Given the description of an element on the screen output the (x, y) to click on. 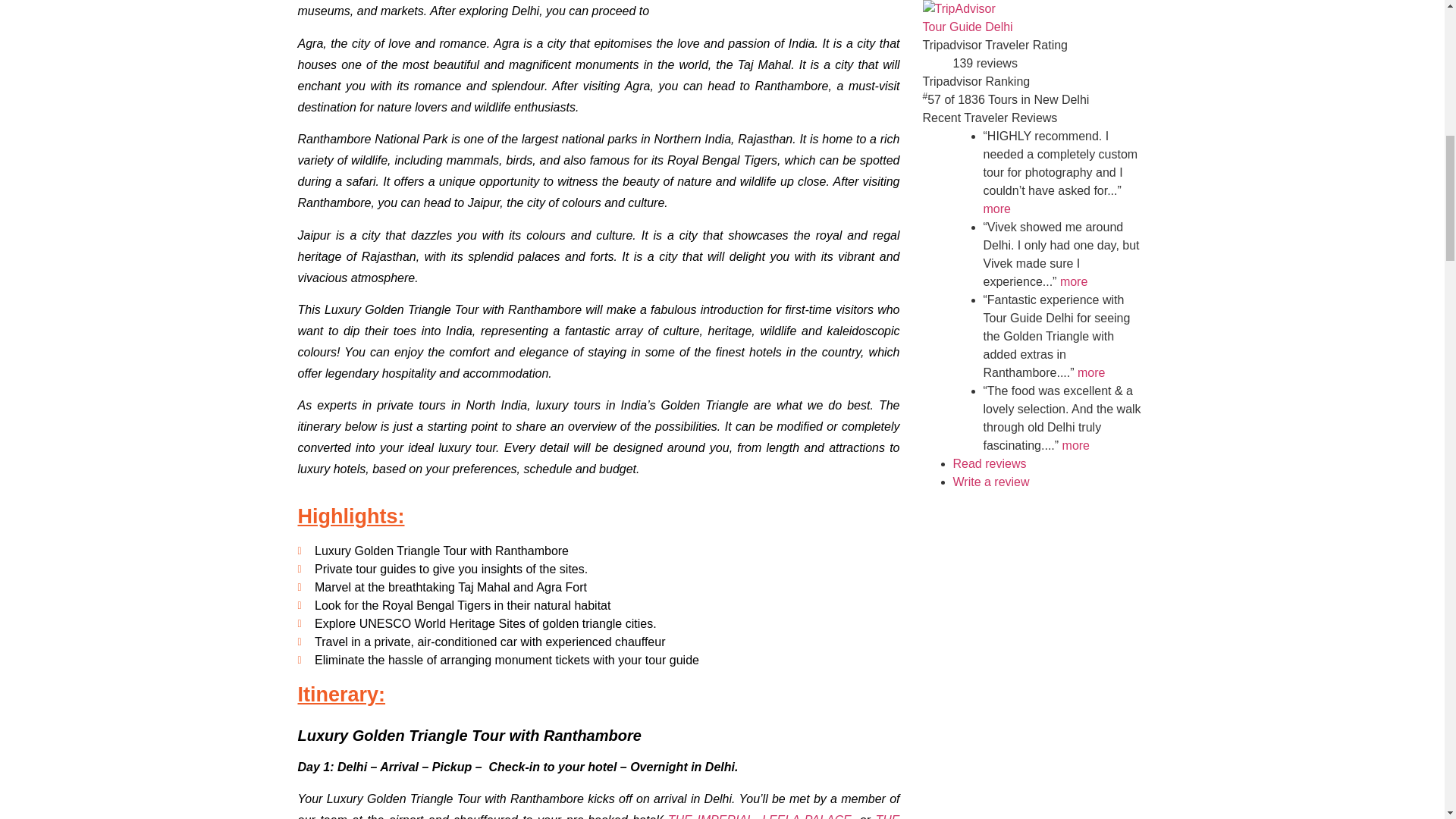
LEELA PALACE (806, 816)
THE IMPERIAL (711, 816)
Luxury Golden Triangle Tour with Ranthambore (957, 9)
